Given the description of an element on the screen output the (x, y) to click on. 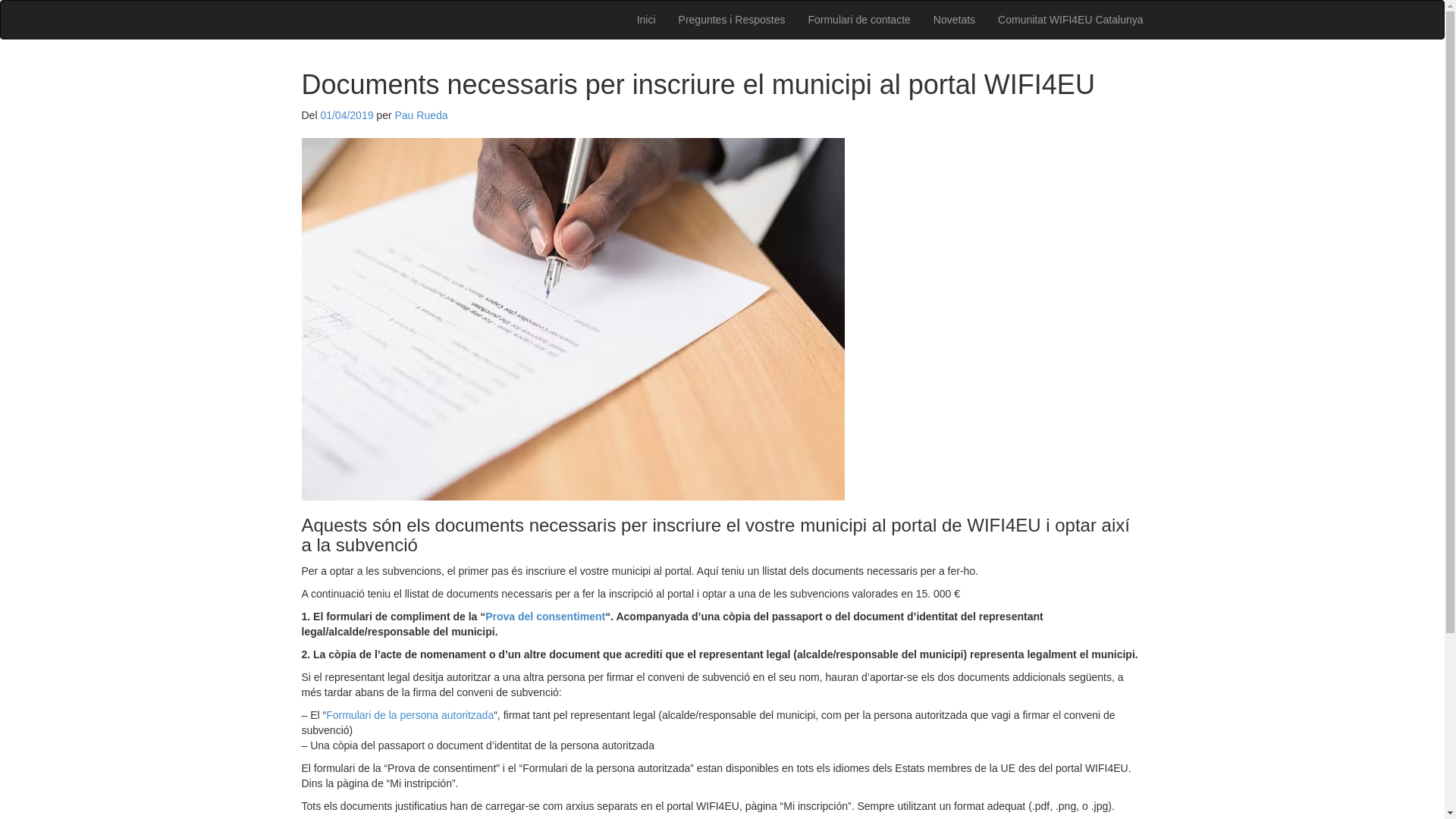
Pau Rueda Element type: text (420, 115)
Formulari de contacte Element type: text (858, 19)
Prova del consentiment Element type: text (545, 616)
Novetats Element type: text (954, 19)
Preguntes i Respostes Element type: text (732, 19)
01/04/2019 Element type: text (346, 115)
Formulari de la persona autoritzada Element type: text (409, 715)
Comunitat WIFI4EU Catalunya Element type: text (1070, 19)
Inici Element type: text (646, 19)
Skip to content Element type: text (300, 0)
